Given the description of an element on the screen output the (x, y) to click on. 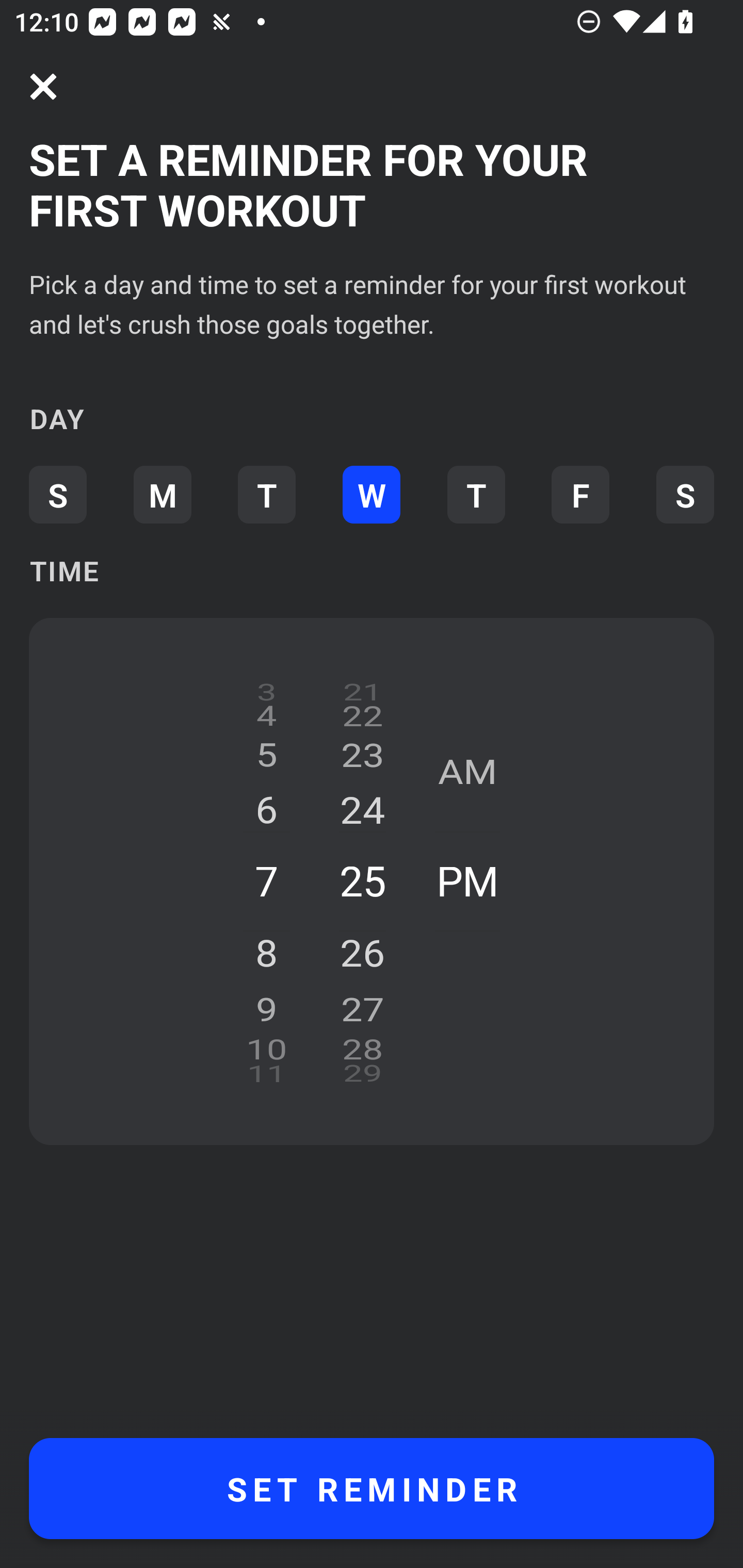
close screen (43, 86)
S (57, 494)
M (161, 494)
T (266, 494)
W (371, 494)
T (476, 494)
F (580, 494)
S (684, 494)
SET REMINDER (371, 1488)
